Given the description of an element on the screen output the (x, y) to click on. 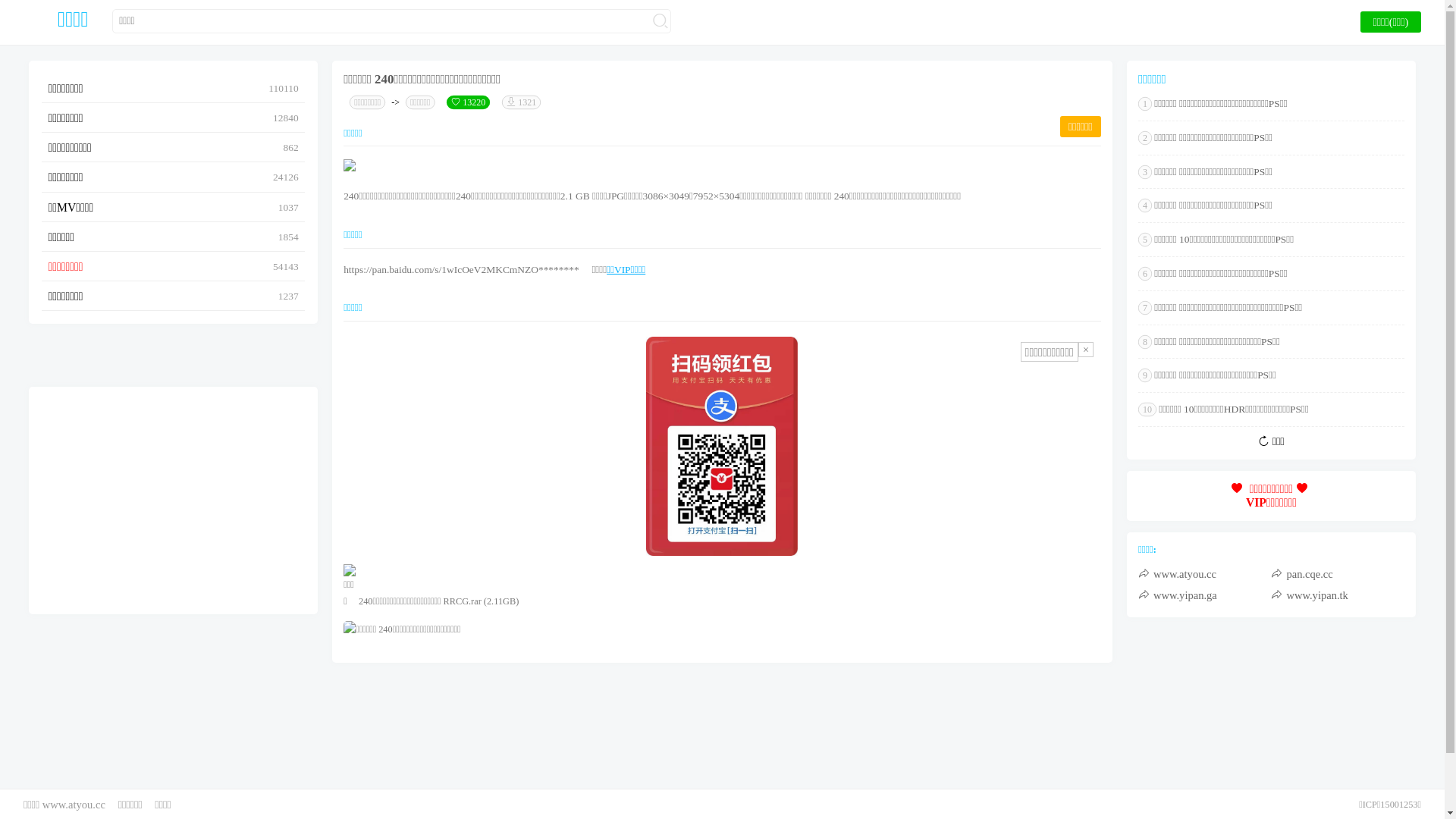
pan.cqe.cc Element type: text (1337, 573)
1321 Element type: text (521, 102)
www.atyou.cc Element type: text (1204, 573)
www.yipan.tk Element type: text (1337, 594)
www.yipan.ga Element type: text (1204, 594)
13220 Element type: text (467, 102)
